Given the description of an element on the screen output the (x, y) to click on. 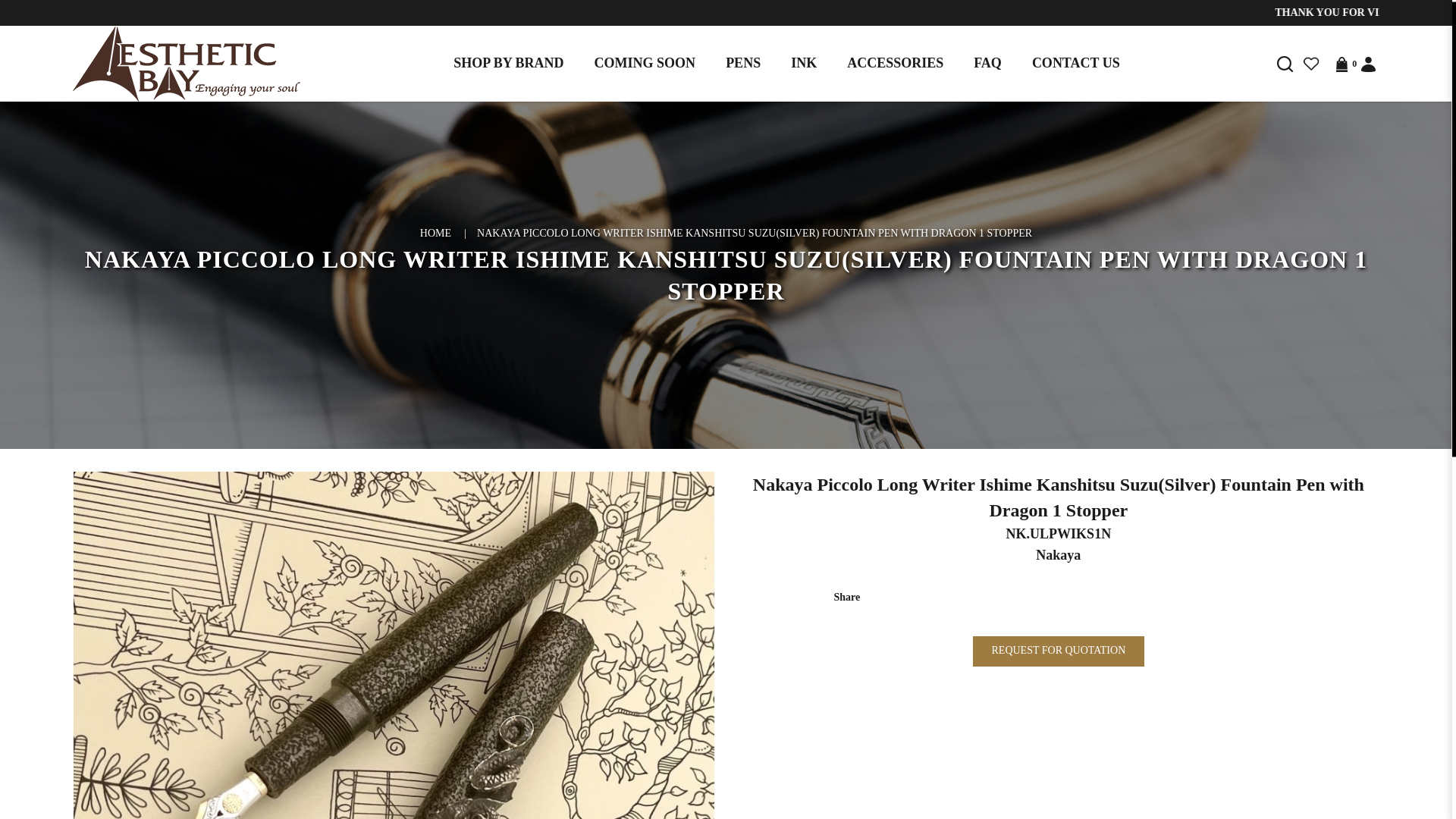
COMING SOON (644, 63)
Search (1284, 64)
Aesthetic Bay (185, 62)
Cart (1341, 64)
SHOP BY BRAND (507, 63)
